Given the description of an element on the screen output the (x, y) to click on. 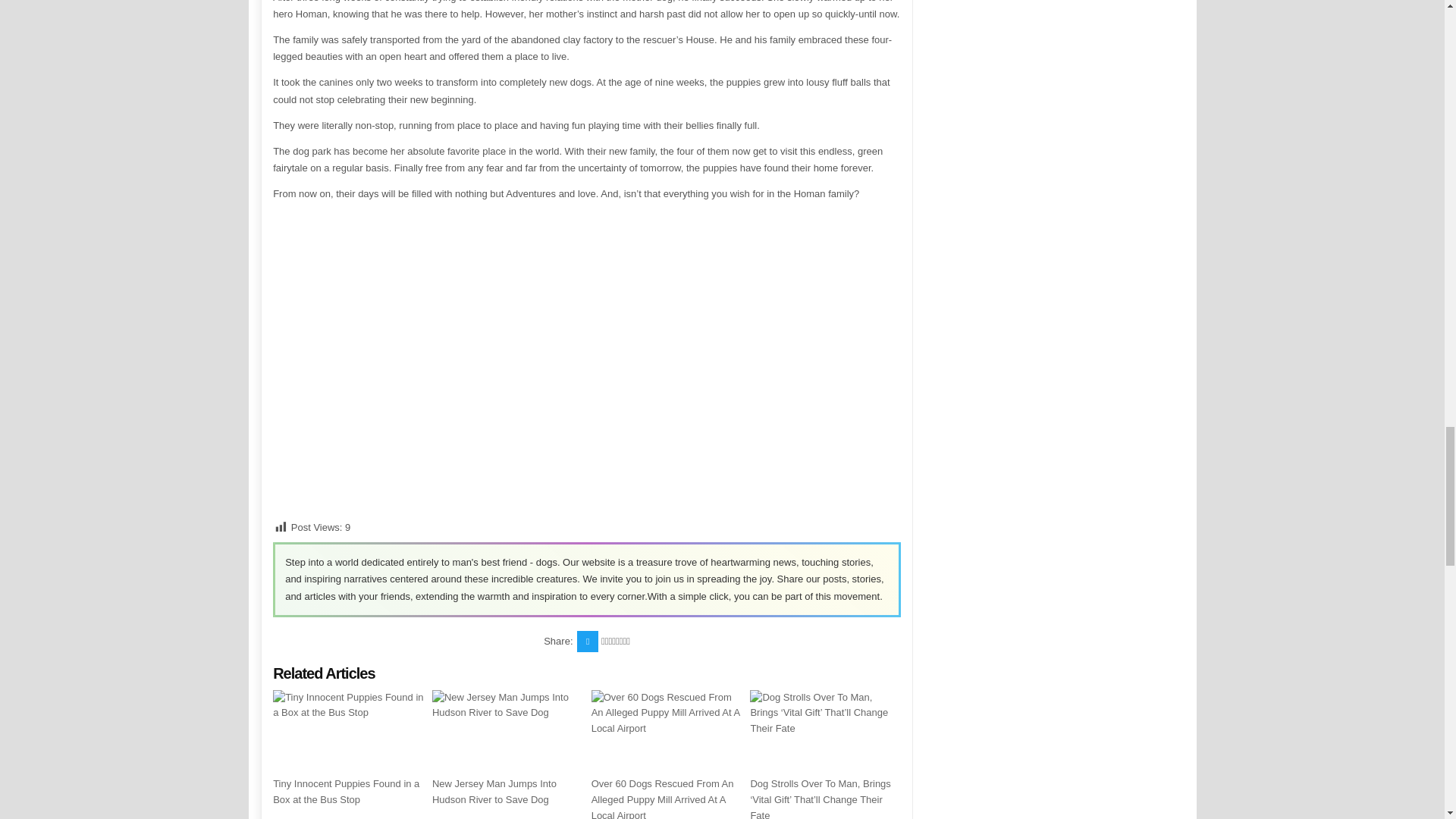
Tiny Innocent Puppies Found in a Box at the Bus Stop (346, 791)
New Jersey Man Jumps Into Hudson River to Save Dog (494, 791)
Tweet This! (587, 640)
